Given the description of an element on the screen output the (x, y) to click on. 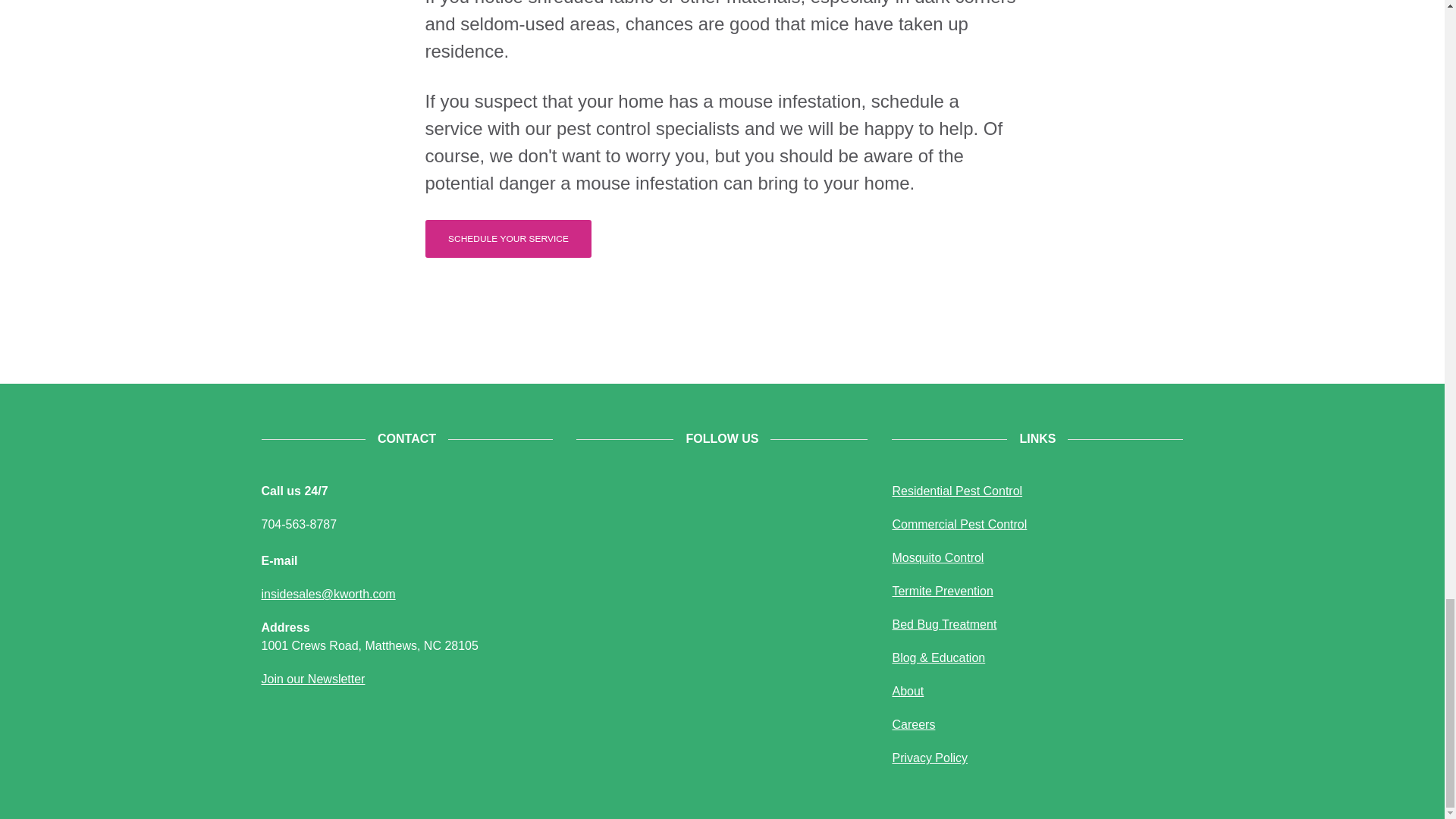
Bed Bug Treatment Charlotte (943, 624)
Mosquito Control (937, 557)
Privacy Policy (929, 757)
About (907, 690)
Join Our Newsletter (312, 678)
Blog (938, 657)
Careers (912, 724)
Termite Prevention (941, 590)
Pest Control (956, 490)
Commercial Pest Control (958, 523)
